Given the description of an element on the screen output the (x, y) to click on. 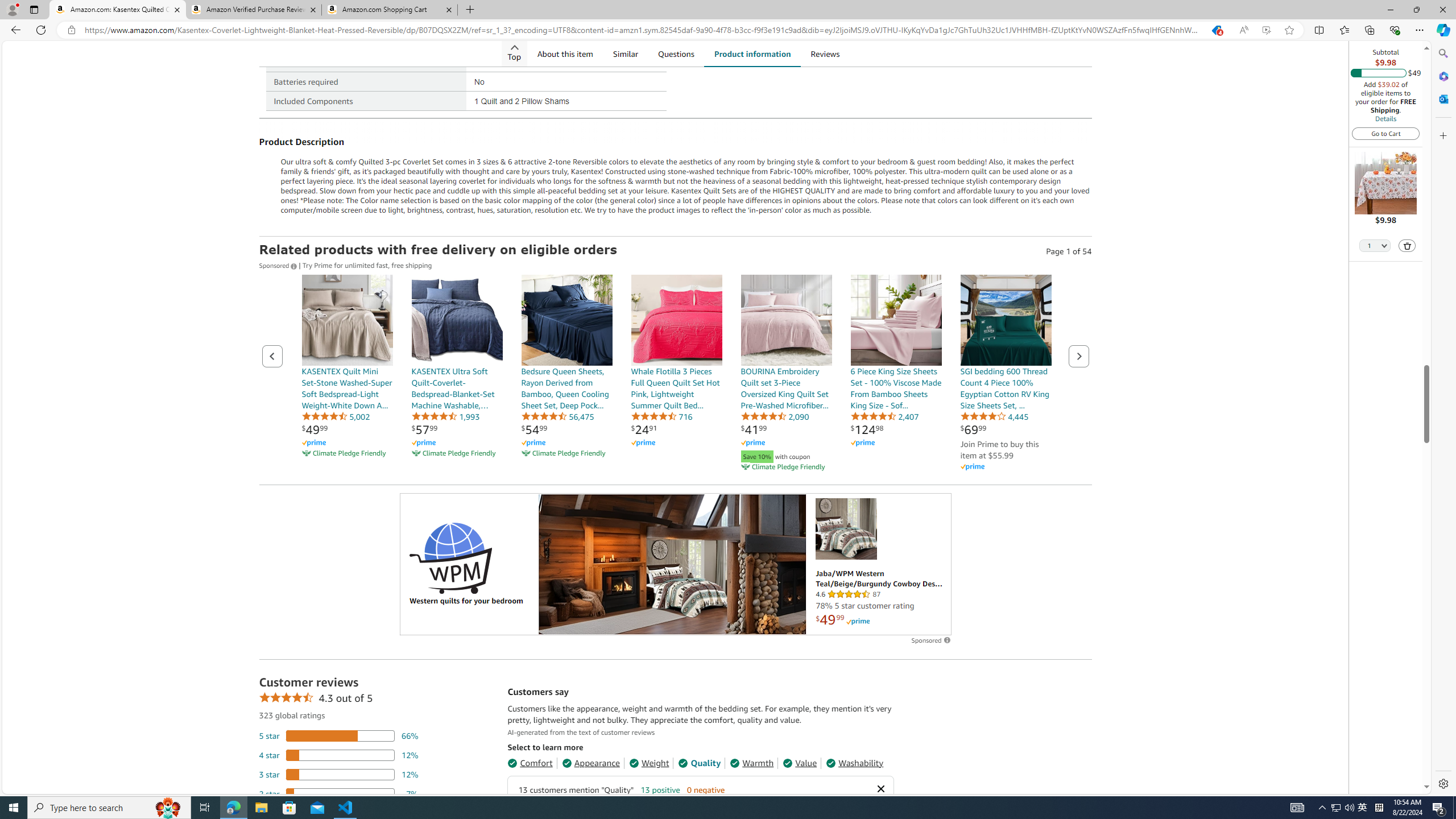
2,407 (884, 416)
Warmth (751, 762)
Sponsored  (278, 264)
Prime (857, 620)
5,002 (335, 416)
Similar (624, 53)
4,445$69.99Join Prime to buy this item at $55.99 (1005, 373)
